Given the description of an element on the screen output the (x, y) to click on. 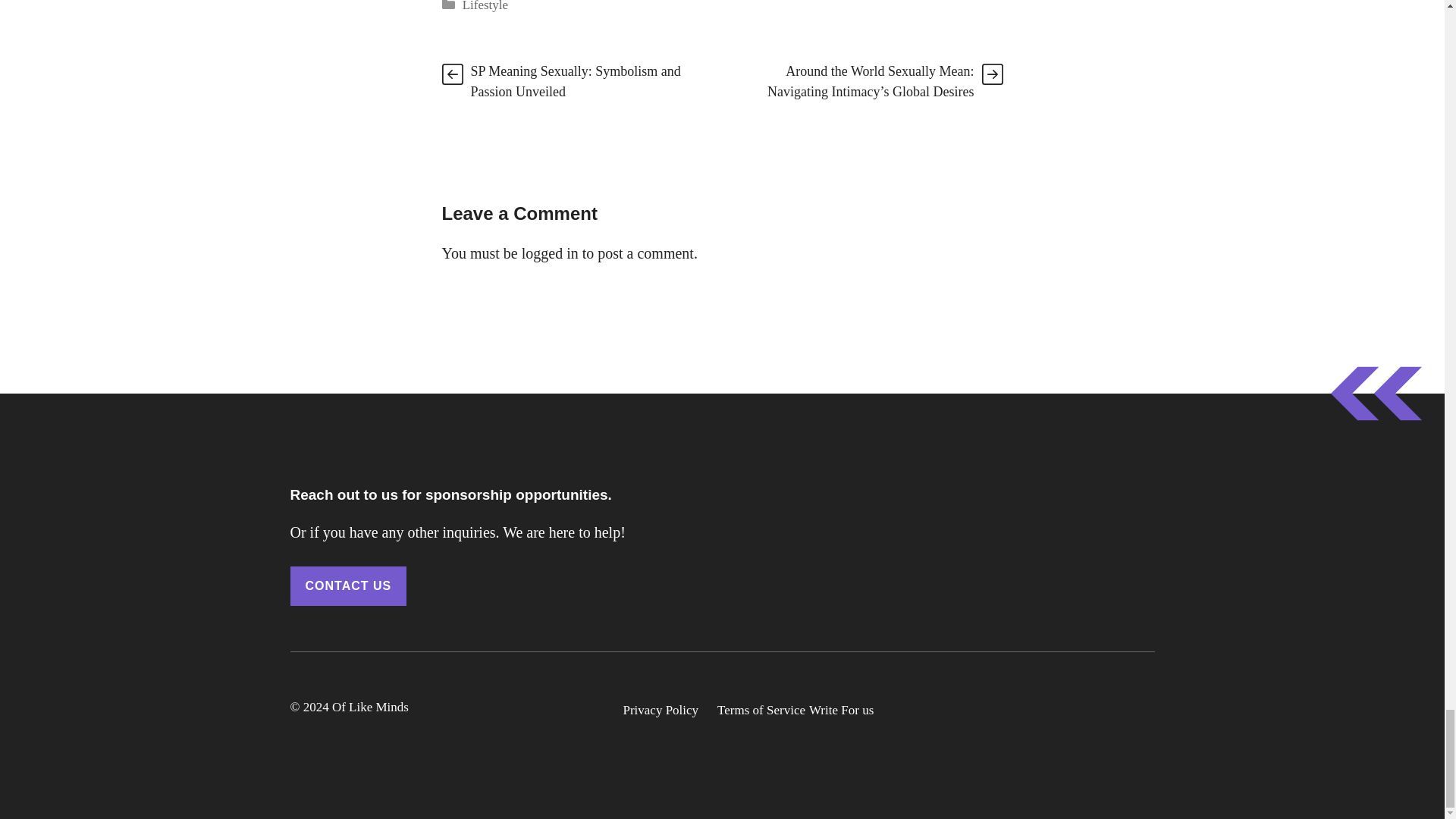
logged in (549, 252)
CONTACT US (347, 586)
SP Meaning Sexually: Symbolism and Passion Unveiled (574, 81)
Lifestyle (485, 6)
